Given the description of an element on the screen output the (x, y) to click on. 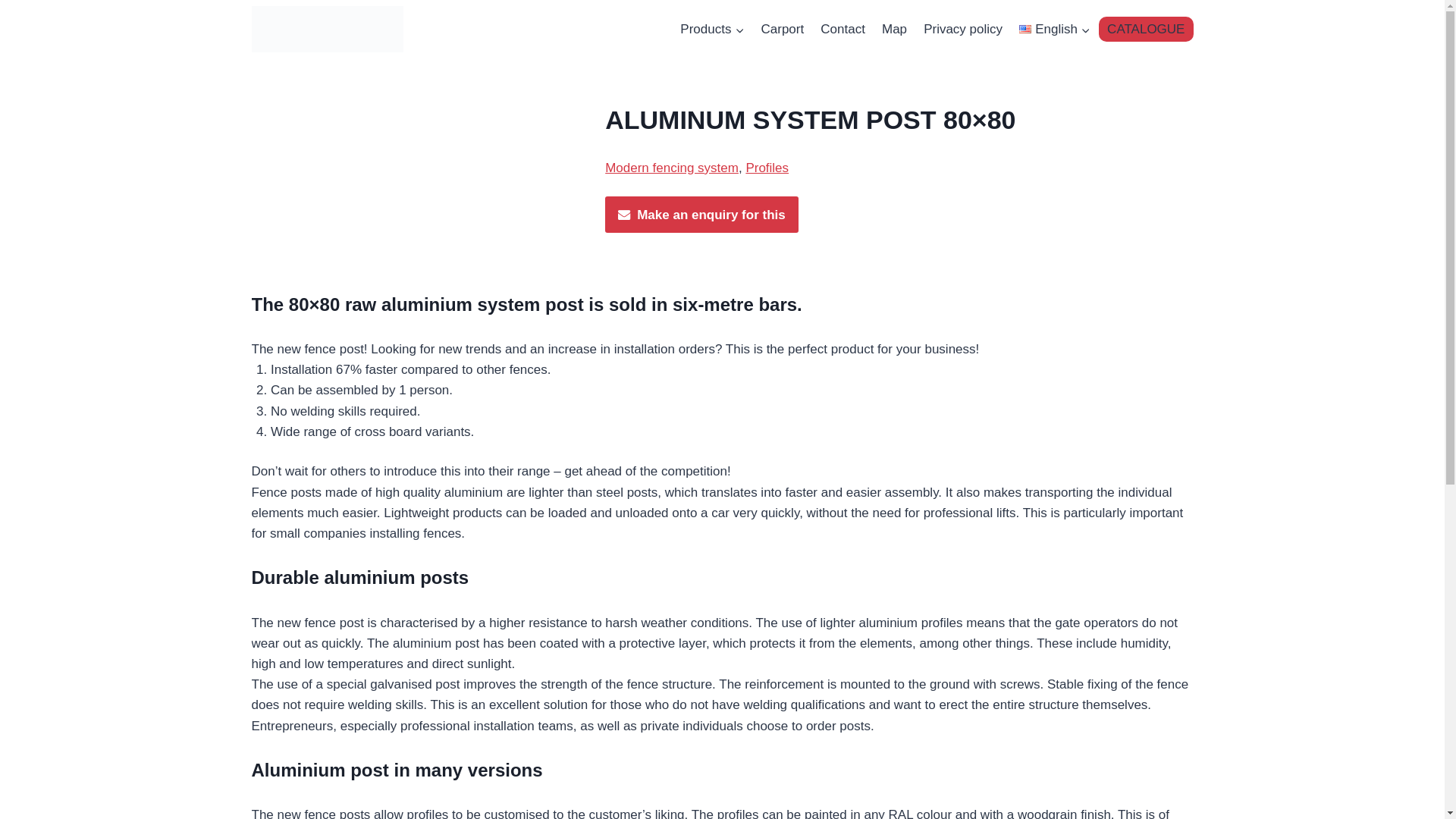
Map (894, 29)
Contact (842, 29)
Privacy policy (962, 29)
CATALOGUE (1145, 29)
Products (711, 29)
Carport (782, 29)
English (1054, 29)
